Given the description of an element on the screen output the (x, y) to click on. 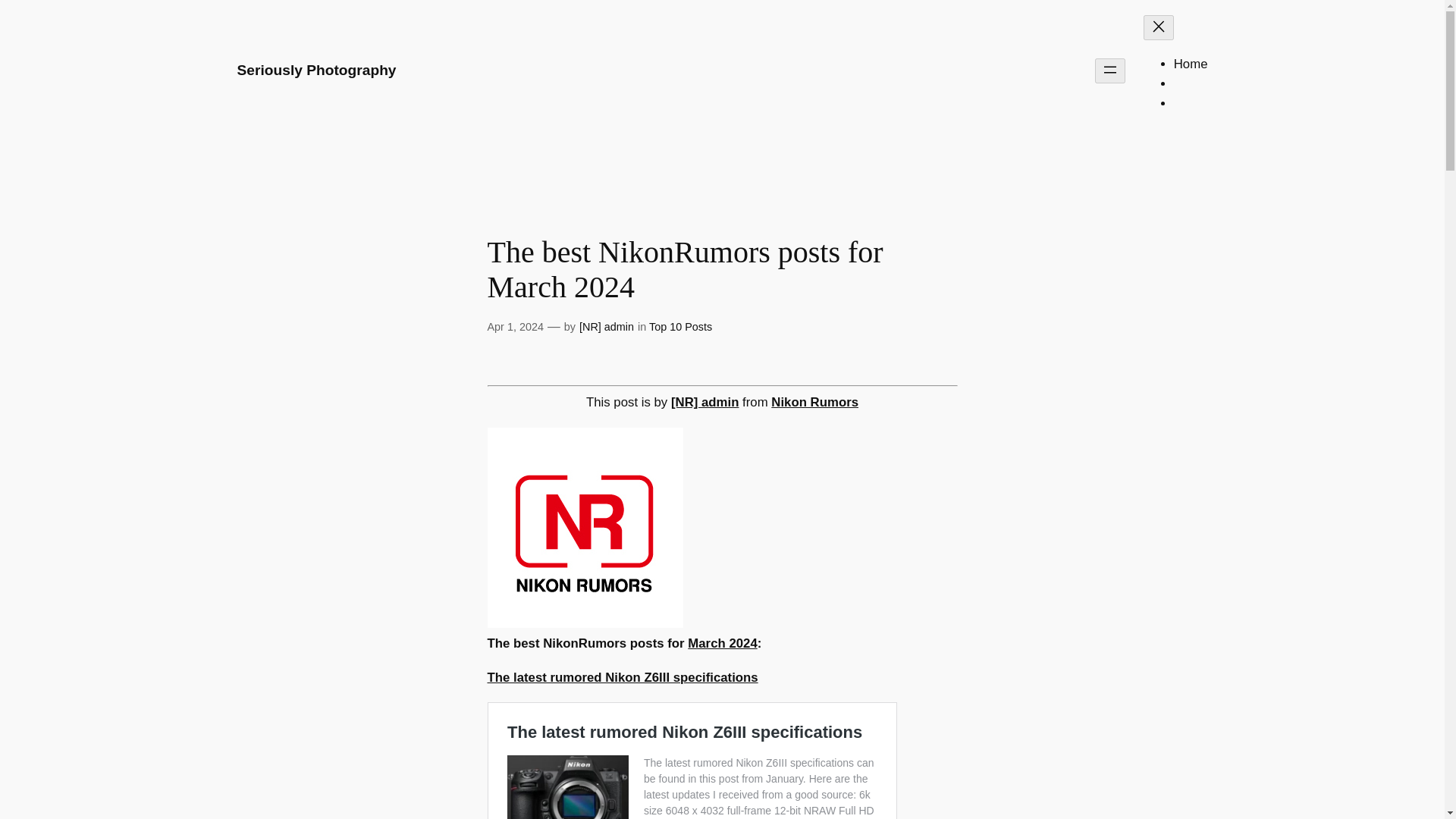
Home (1190, 63)
The latest rumored Nikon Z6III specifications (621, 677)
Nikon Rumors (815, 401)
Top 10 Posts (680, 326)
March 2024 (722, 643)
Apr 1, 2024 (514, 326)
Seriously Photography (315, 69)
